Given the description of an element on the screen output the (x, y) to click on. 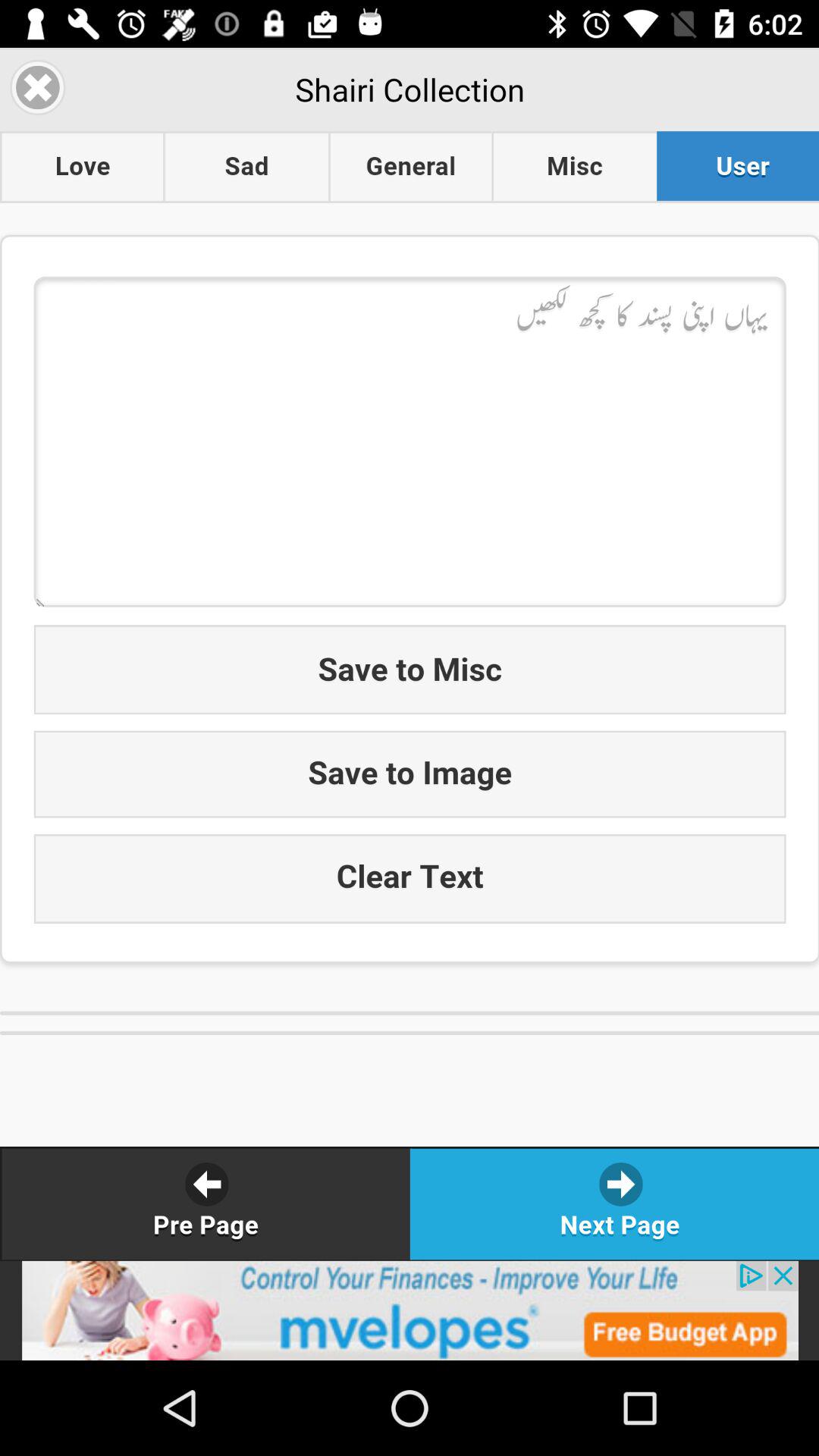
select music window (409, 653)
